Given the description of an element on the screen output the (x, y) to click on. 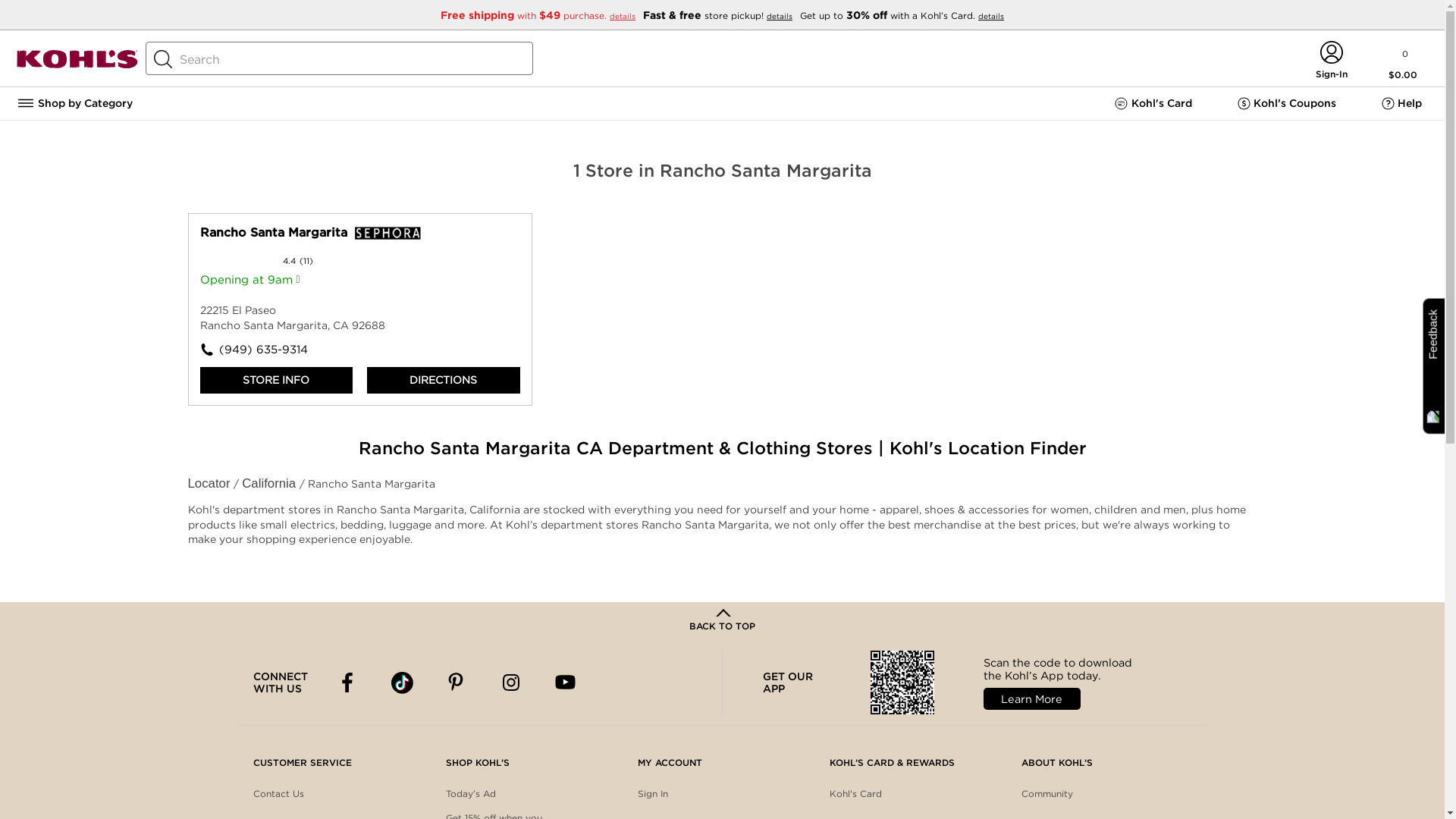
Contact Us (278, 793)
Directions (442, 379)
Shop by Category (74, 102)
Call Store (279, 349)
Help (1401, 102)
STORE INFO (276, 379)
Kohls Logo (76, 65)
BACK TO TOP (721, 620)
Locator (210, 482)
California (270, 482)
Order Status (282, 814)
Kohl's Card (1153, 103)
Learn More (1032, 698)
Skip link (209, 220)
Sign-In (1331, 76)
